Given the description of an element on the screen output the (x, y) to click on. 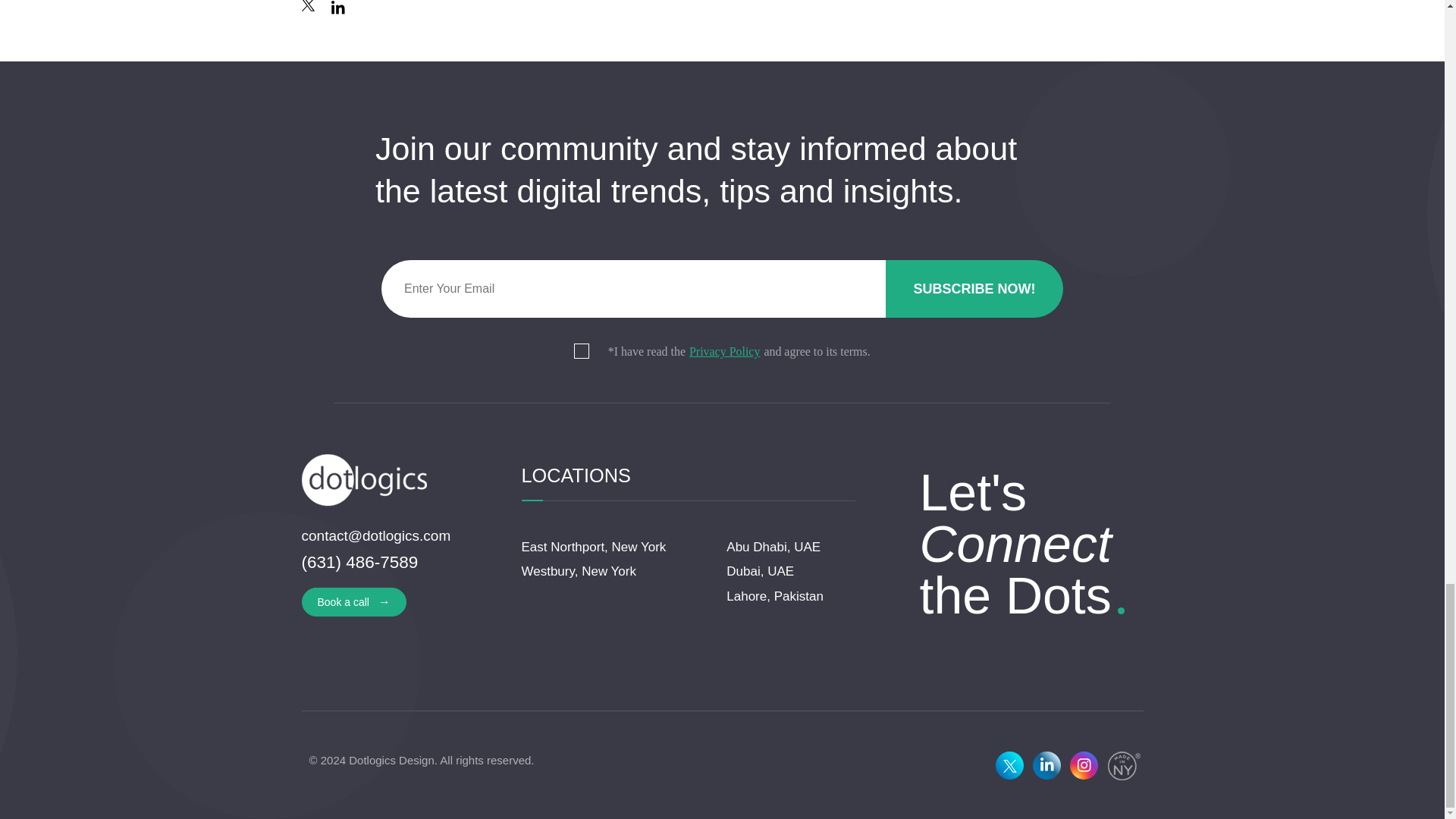
Twitter (309, 7)
